Given the description of an element on the screen output the (x, y) to click on. 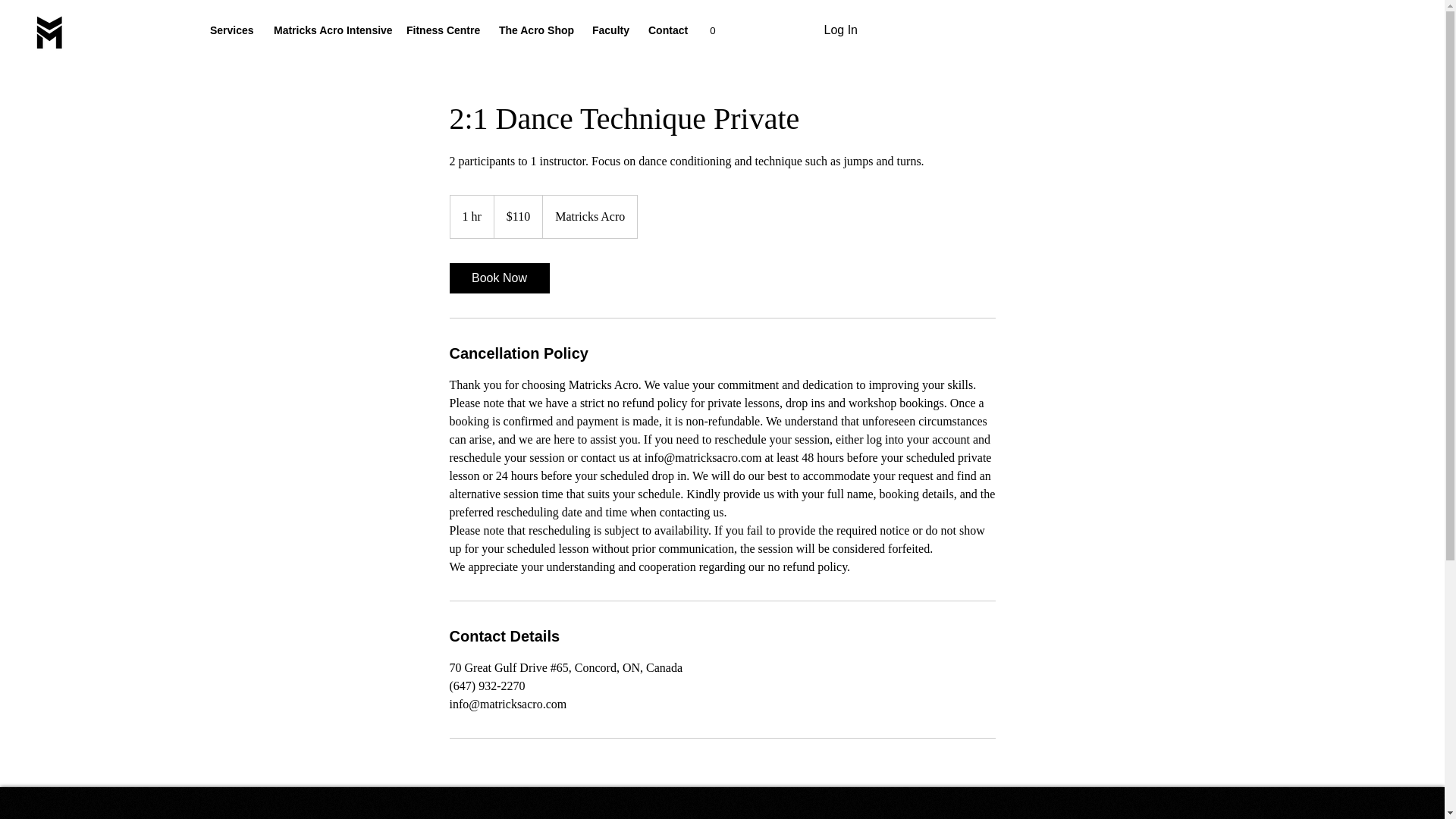
Faculty (608, 30)
Book Now (498, 277)
Fitness Centre (440, 30)
Log In (840, 30)
Contact (666, 30)
Matricks Acro Intensive (328, 30)
The Acro Shop (533, 30)
